Given the description of an element on the screen output the (x, y) to click on. 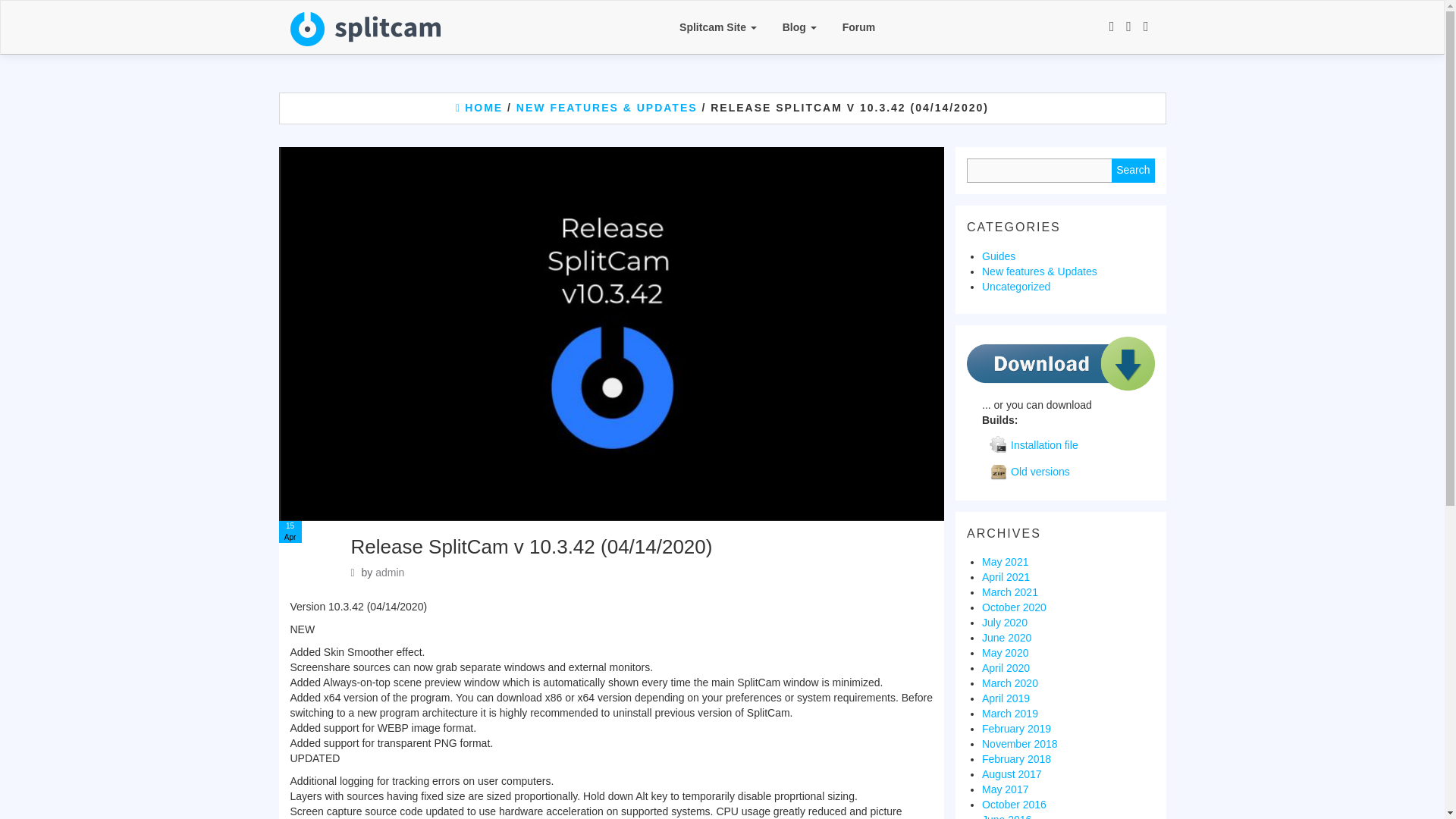
April 2021 (1005, 576)
Splitcam Site (718, 27)
Blog (799, 27)
admin (389, 572)
June 2020 (1005, 637)
Blog (799, 27)
Forum (858, 27)
Splitcam Site (718, 27)
May 2021 (1004, 562)
July 2020 (1004, 622)
